Given the description of an element on the screen output the (x, y) to click on. 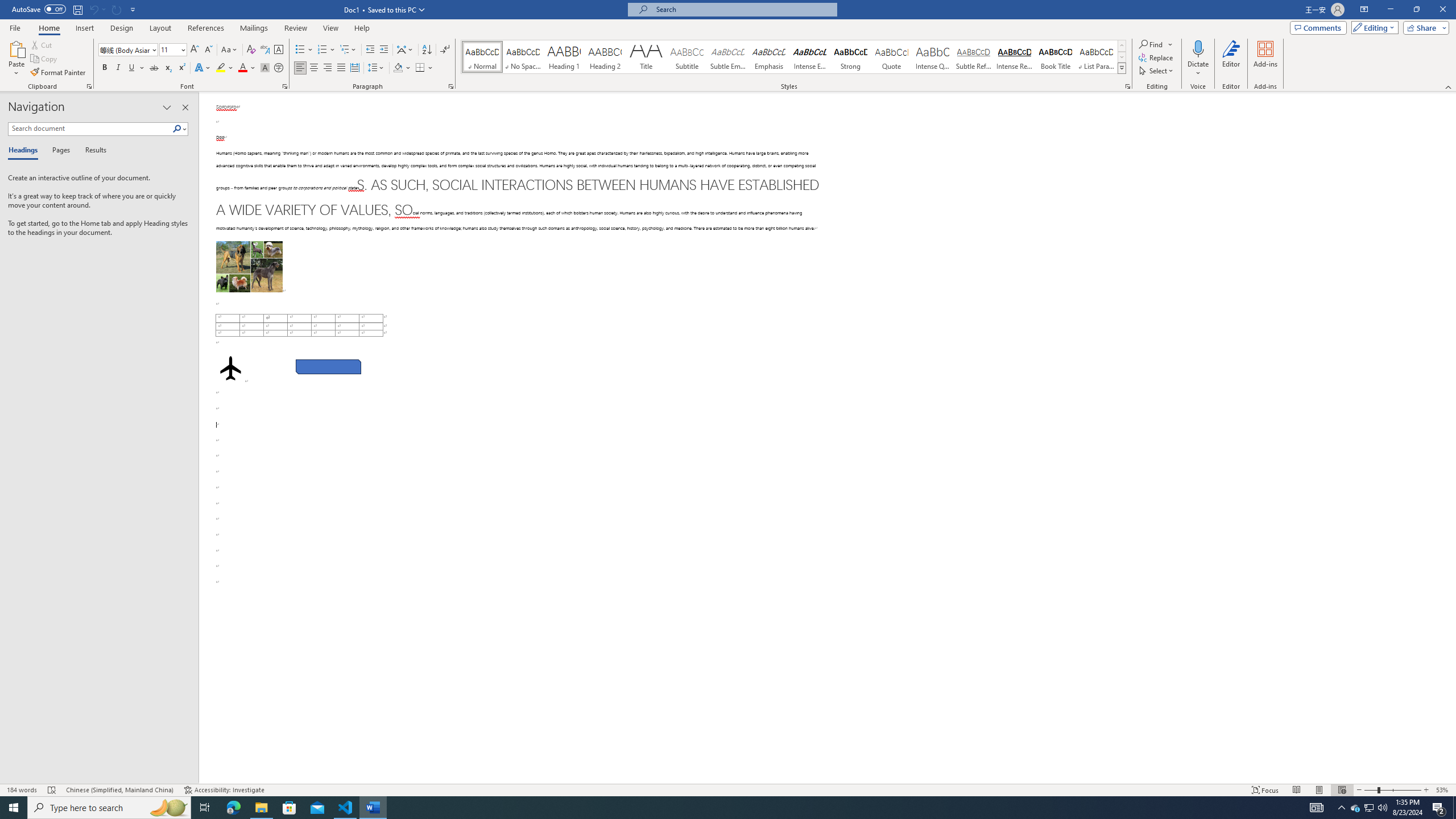
Heading 2 (605, 56)
